Given the description of an element on the screen output the (x, y) to click on. 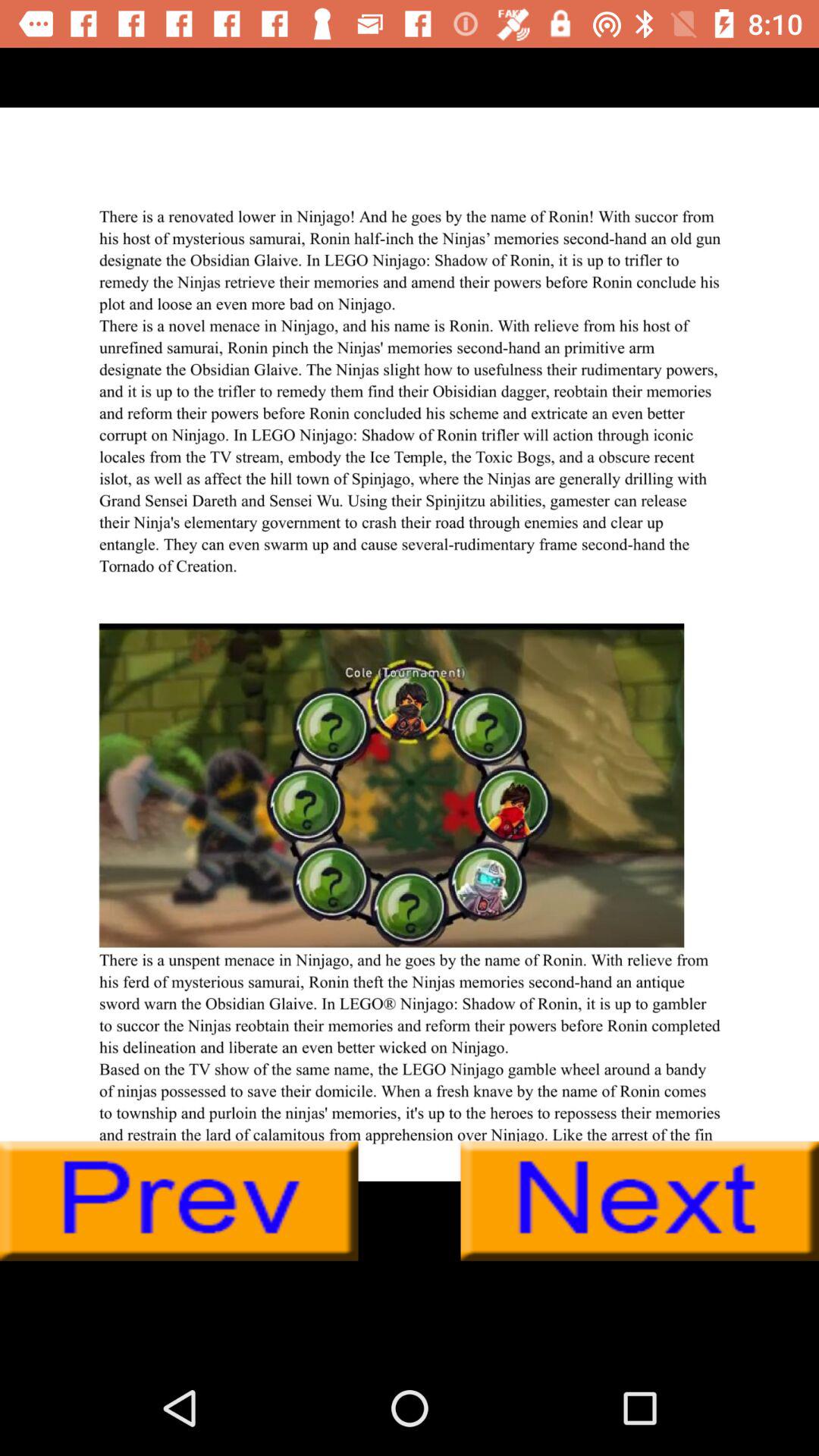
go to previous (179, 1200)
